Given the description of an element on the screen output the (x, y) to click on. 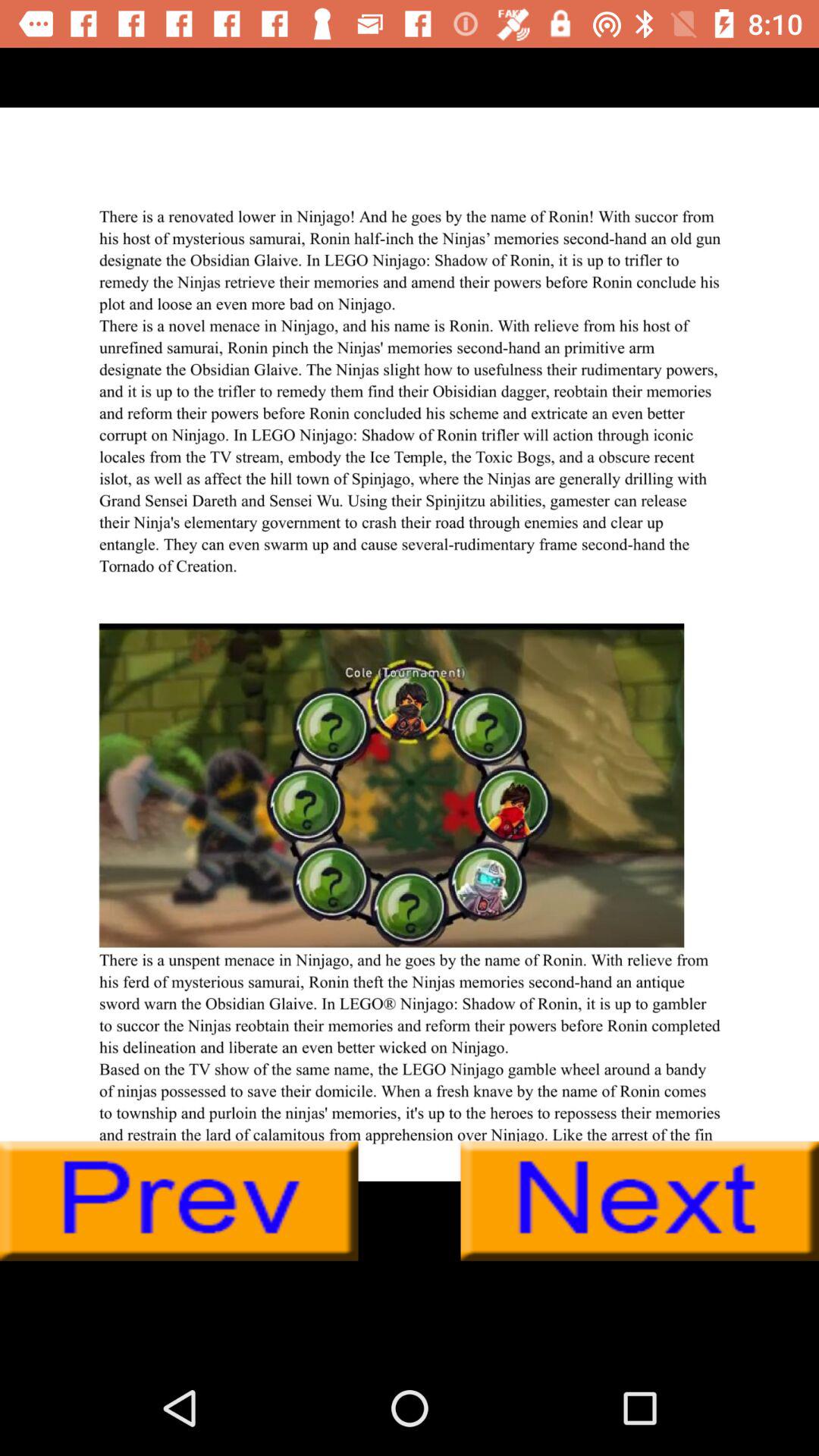
go to previous (179, 1200)
